Given the description of an element on the screen output the (x, y) to click on. 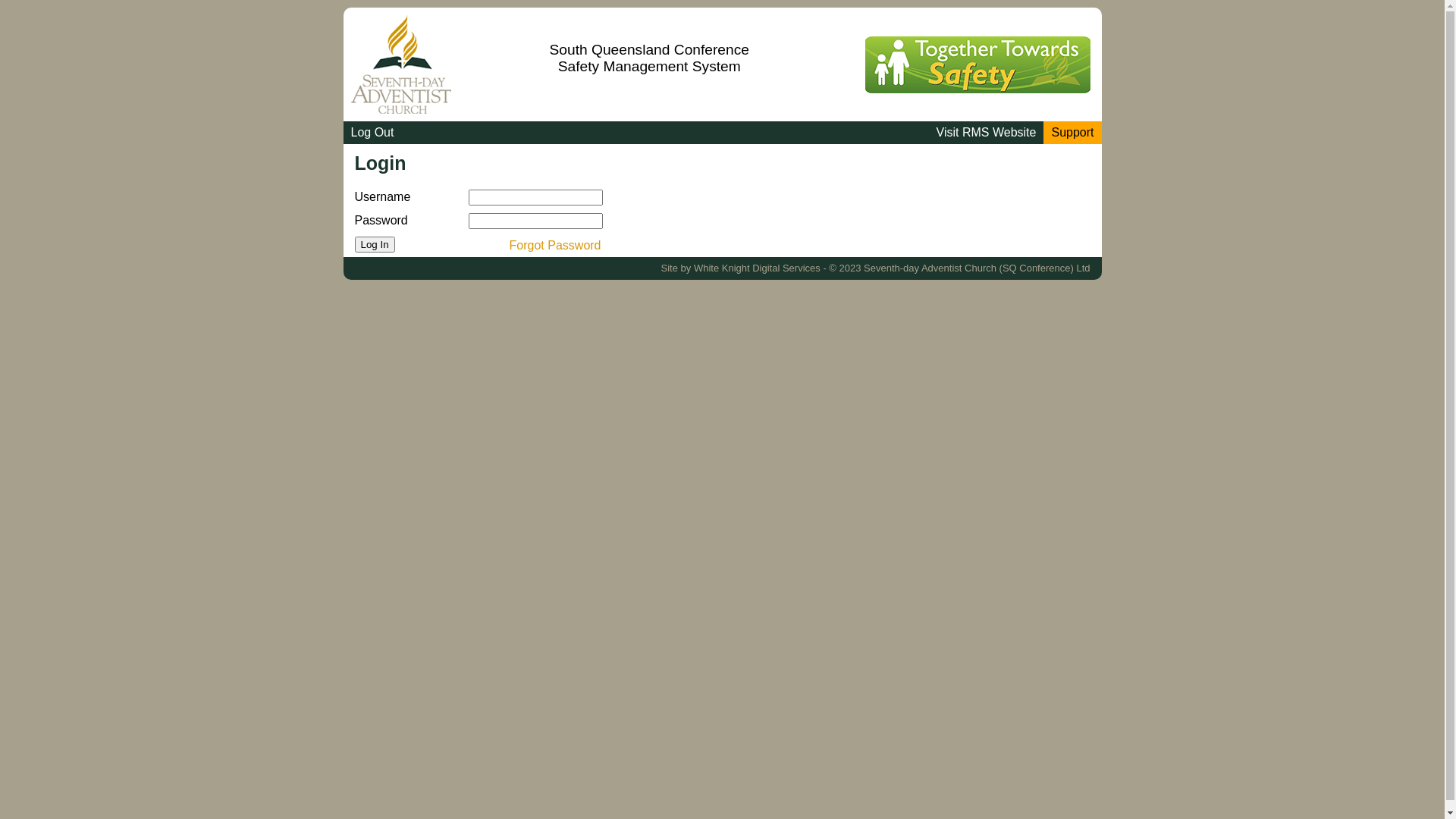
Support Element type: text (1072, 132)
Log In Element type: text (374, 244)
Forgot Password Element type: text (555, 245)
Visit RMS Website Element type: text (986, 132)
Log Out Element type: text (371, 132)
